Given the description of an element on the screen output the (x, y) to click on. 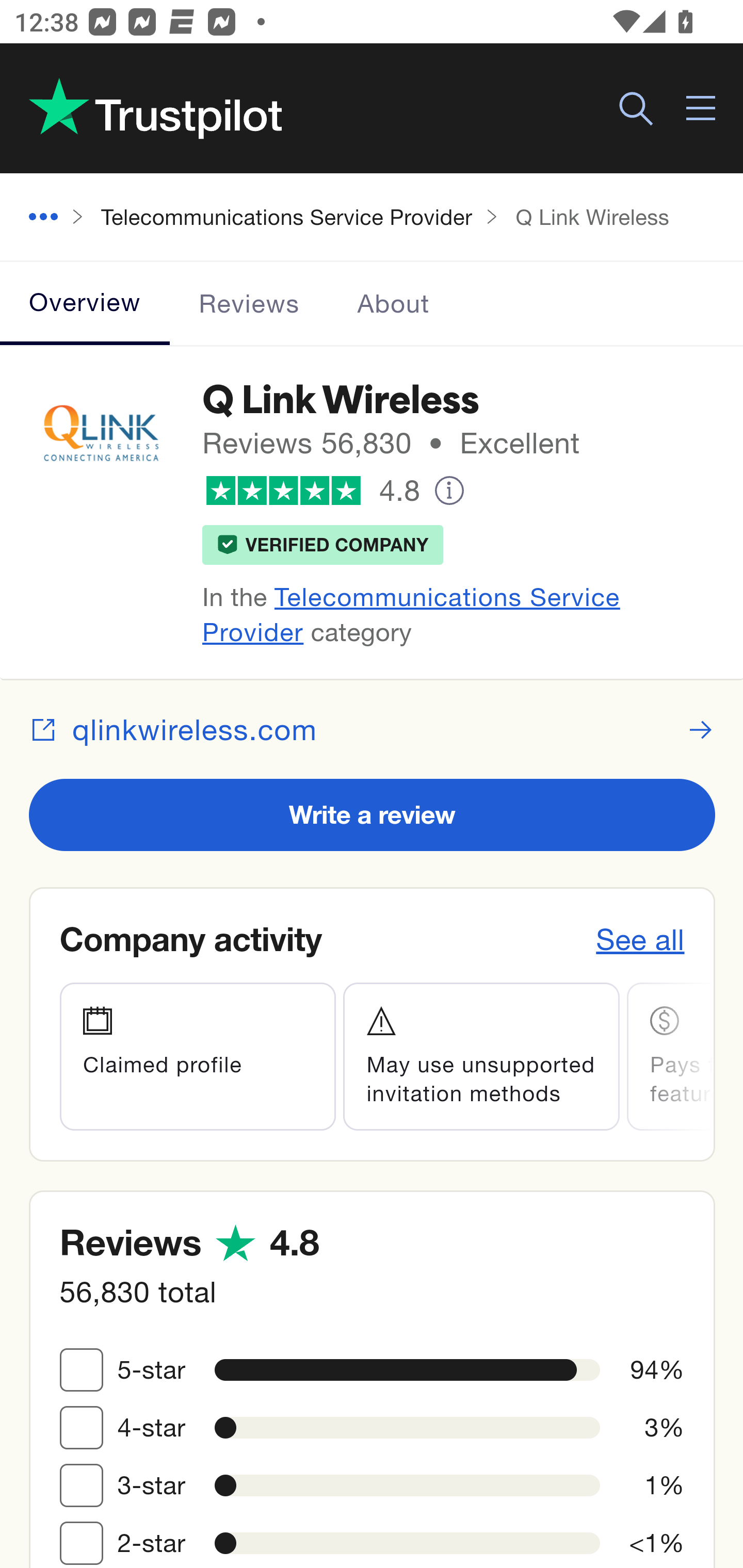
Trustpilot reviews (154, 108)
Search (636, 108)
Open menu (701, 108)
Telecommunications Service Provider (286, 215)
Show all breadcrumbs (50, 217)
Overview (85, 303)
Reviews (249, 303)
About (392, 303)
56,830  •  Excellent 56,830    •    Excellent (451, 442)
VERIFIED COMPANY (323, 543)
Telecommunications Service Provider (411, 614)
qlinkwire less.com qlinkwire less.com (372, 729)
Write a review (372, 814)
See all (640, 938)
Claimed profile (197, 1056)
May use unsupported invitation methods (482, 1056)
5-star 94% (80, 1369)
4-star 3% (80, 1426)
3-star 1% (80, 1484)
2-star <1% (80, 1541)
